Given the description of an element on the screen output the (x, y) to click on. 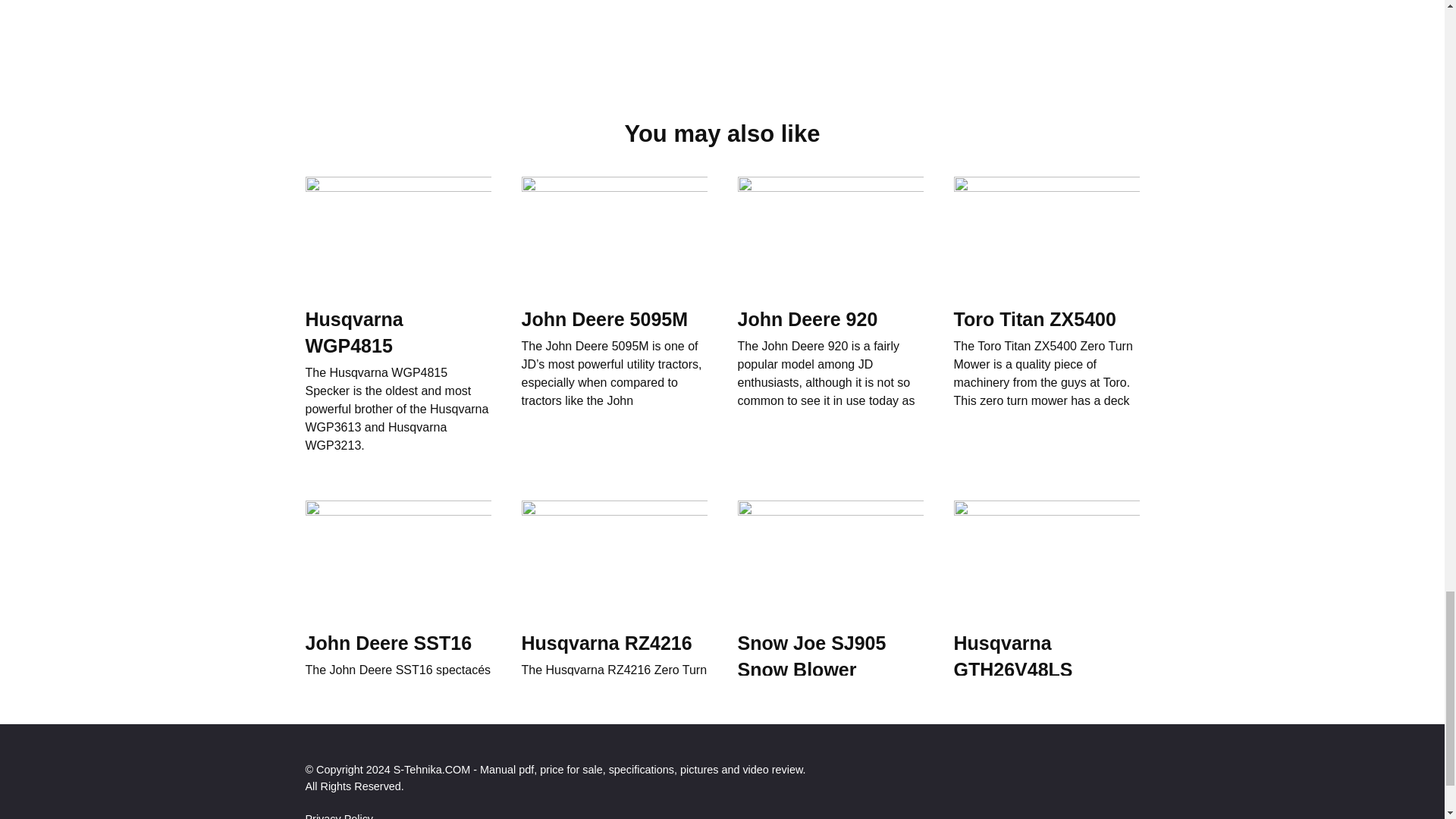
Husqvarna WGP4815 (353, 331)
Husqvarna GTH26V48LS (1013, 655)
Toro Titan ZX5400 (1034, 318)
Husqvarna RZ4216 (607, 642)
John Deere 920 (806, 318)
John Deere SST16 (387, 642)
Home (325, 699)
John Deere 5095M (604, 318)
Snow Joe SJ905 Snow Blower (810, 655)
